Given the description of an element on the screen output the (x, y) to click on. 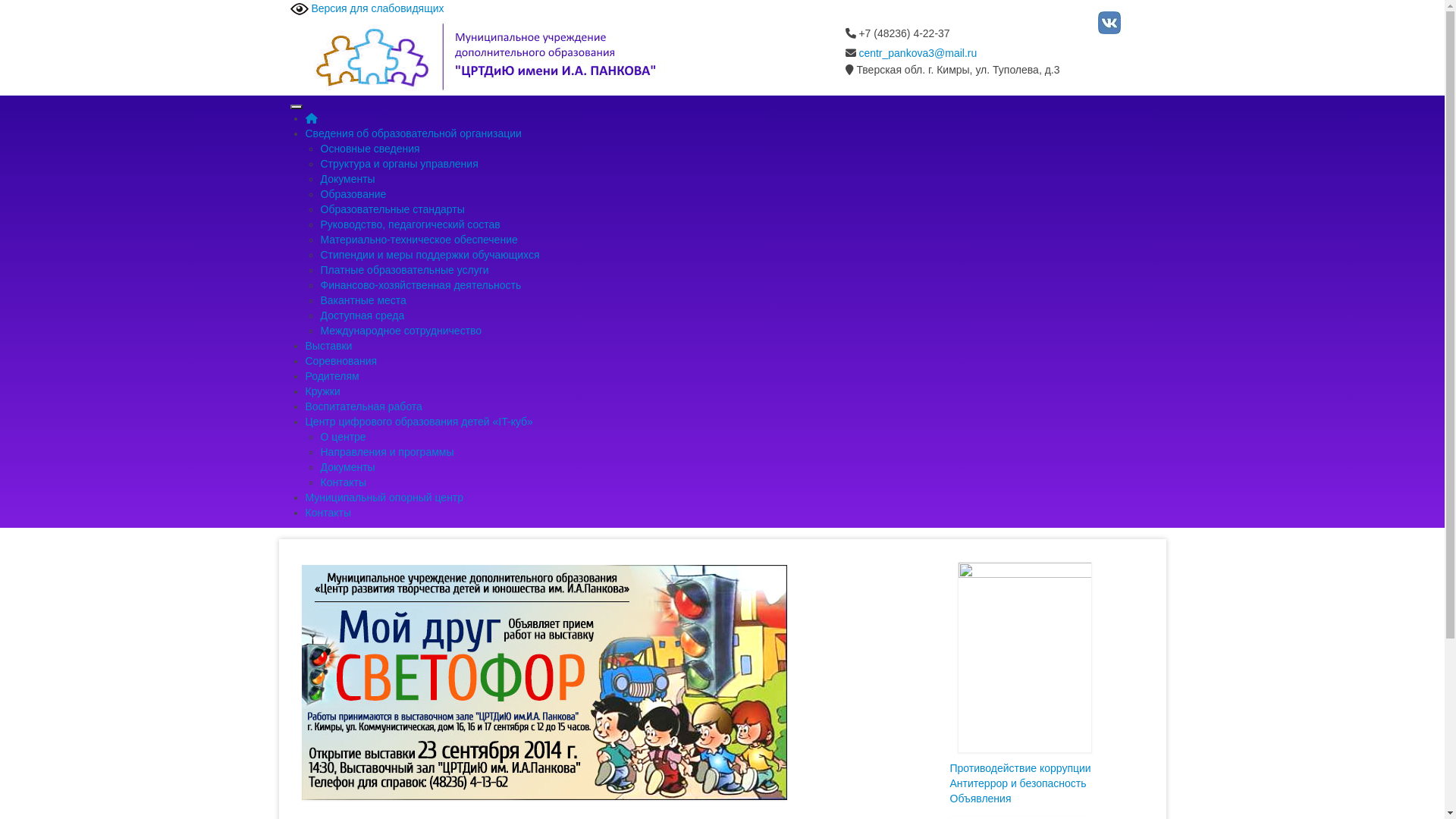
+7 (48236) 4-22-37 Element type: text (896, 32)
